Given the description of an element on the screen output the (x, y) to click on. 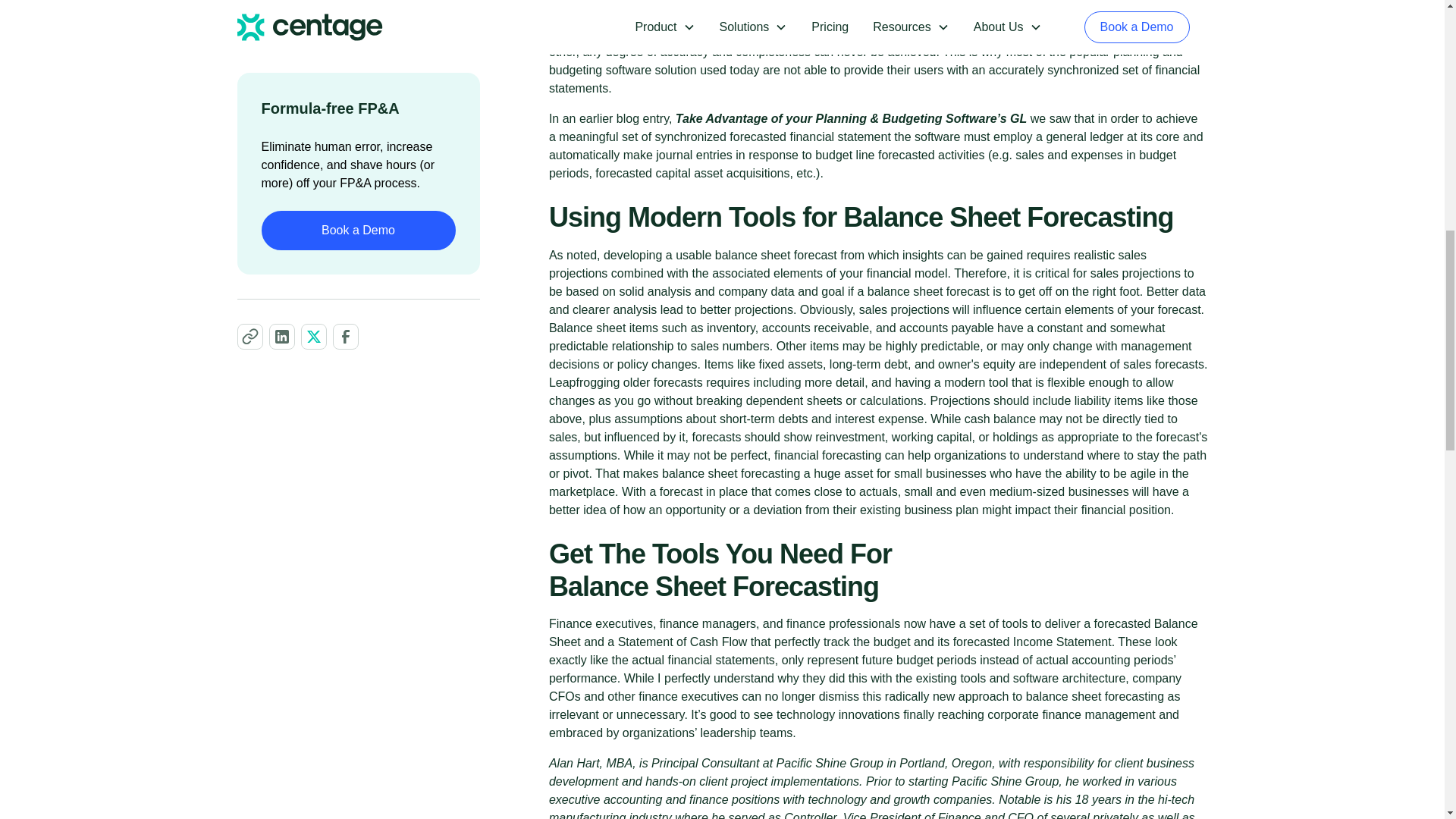
statement forecast (842, 2)
